Given the description of an element on the screen output the (x, y) to click on. 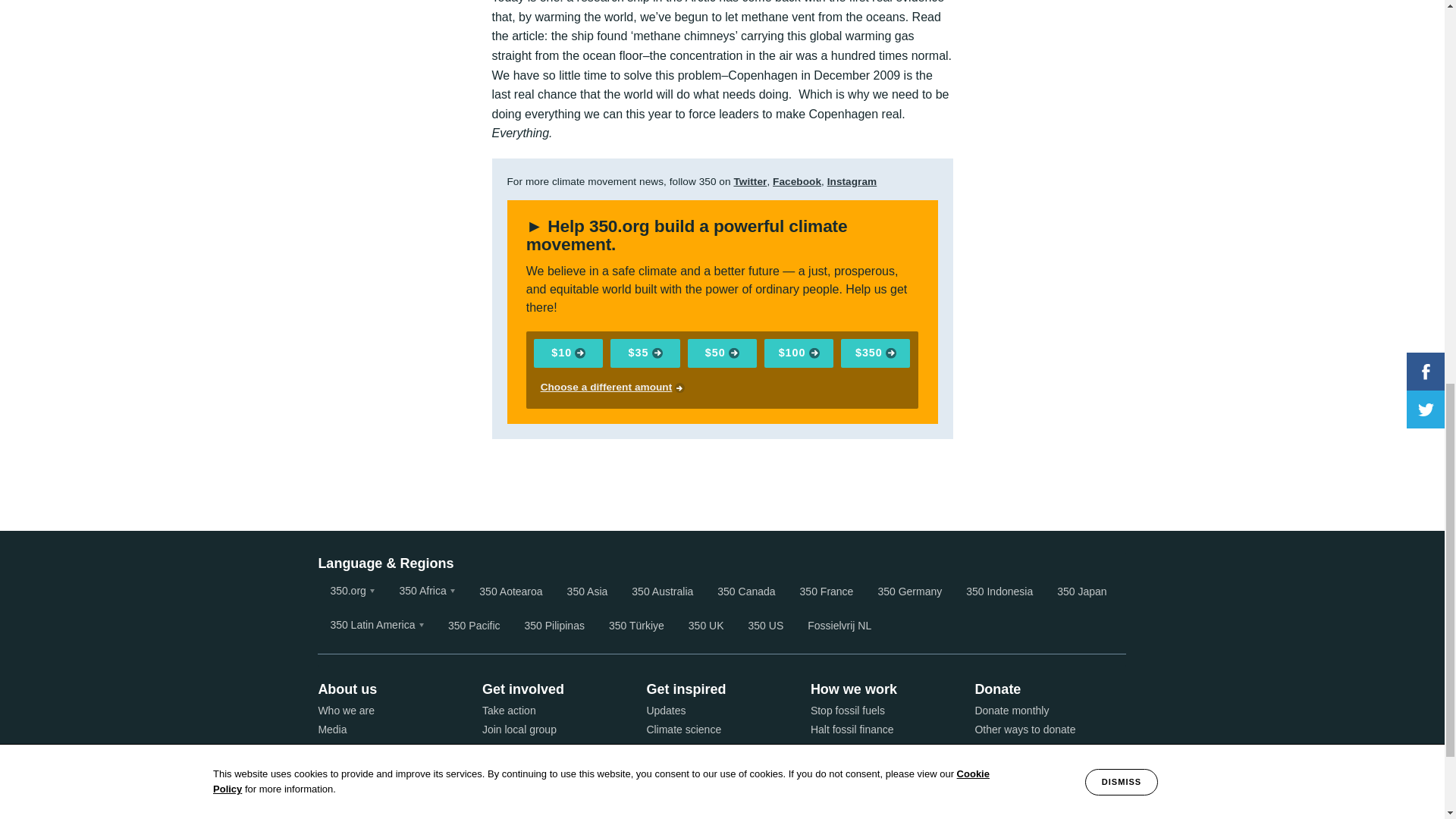
Instagram (852, 181)
Twitter (750, 181)
Facebook (797, 181)
